Given the description of an element on the screen output the (x, y) to click on. 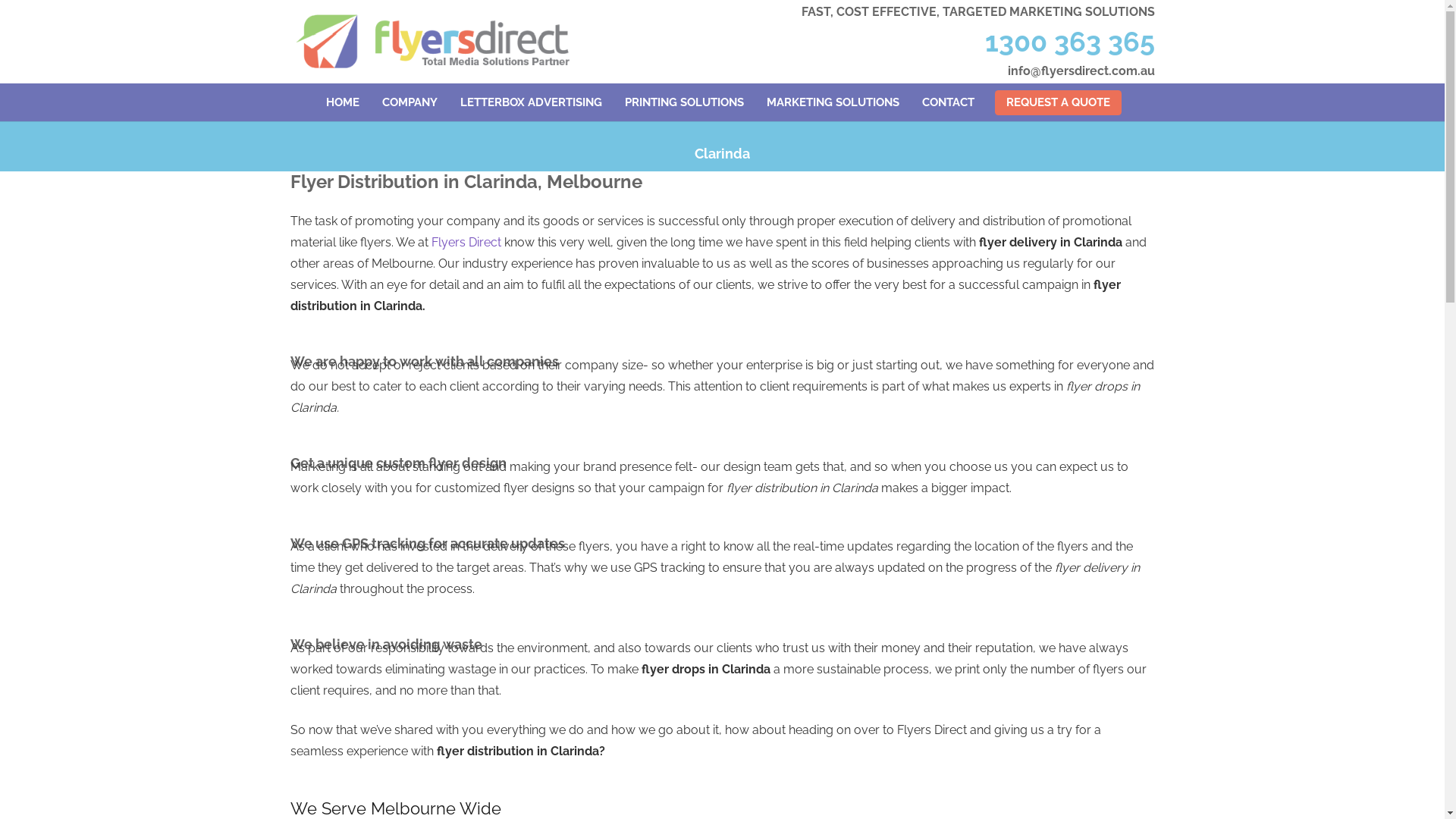
COMPANY Element type: text (409, 102)
REQUEST A QUOTE Element type: text (1057, 101)
info@flyersdirect.com.au Element type: text (1080, 70)
Flyers Direct Element type: text (465, 242)
PRINTING SOLUTIONS Element type: text (684, 102)
CONTACT Element type: text (947, 102)
LETTERBOX ADVERTISING Element type: text (530, 102)
MARKETING SOLUTIONS Element type: text (832, 102)
HOME Element type: text (342, 102)
